Given the description of an element on the screen output the (x, y) to click on. 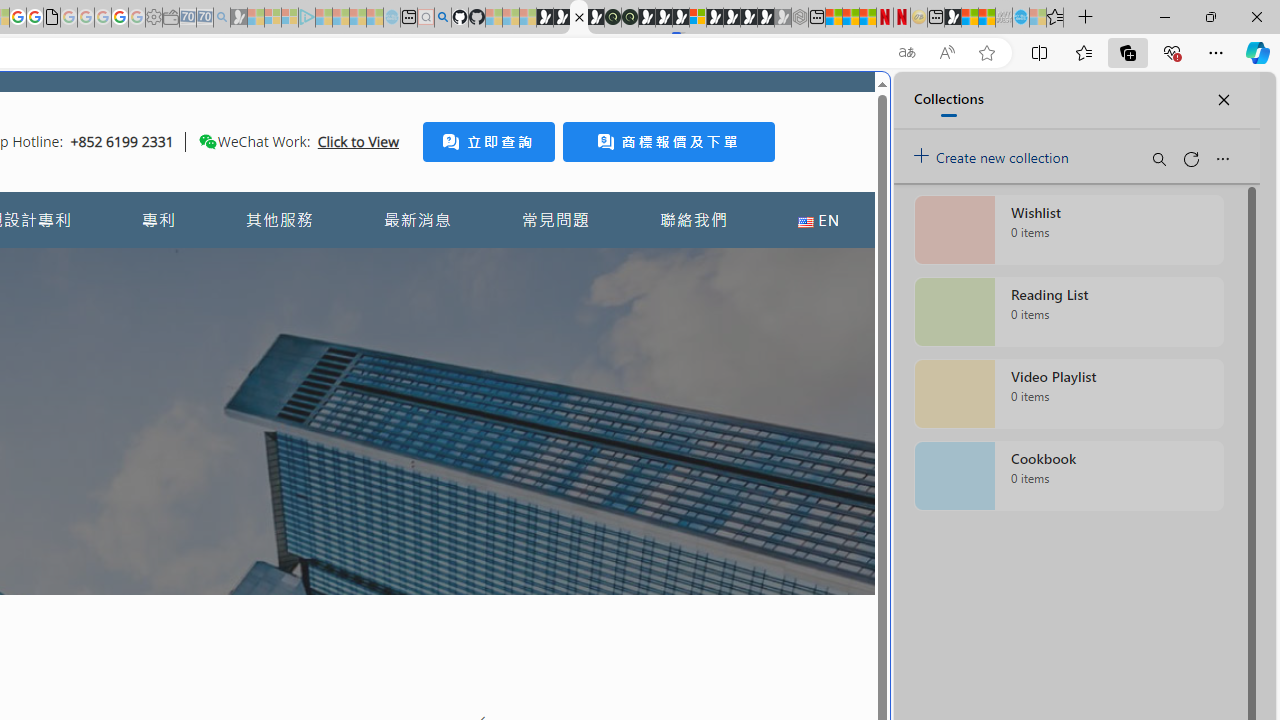
Frequently visited (418, 265)
EN (818, 220)
Play Free Online Games | Games from Microsoft Start (731, 17)
World - MSN (969, 17)
MSN (952, 17)
